Given the description of an element on the screen output the (x, y) to click on. 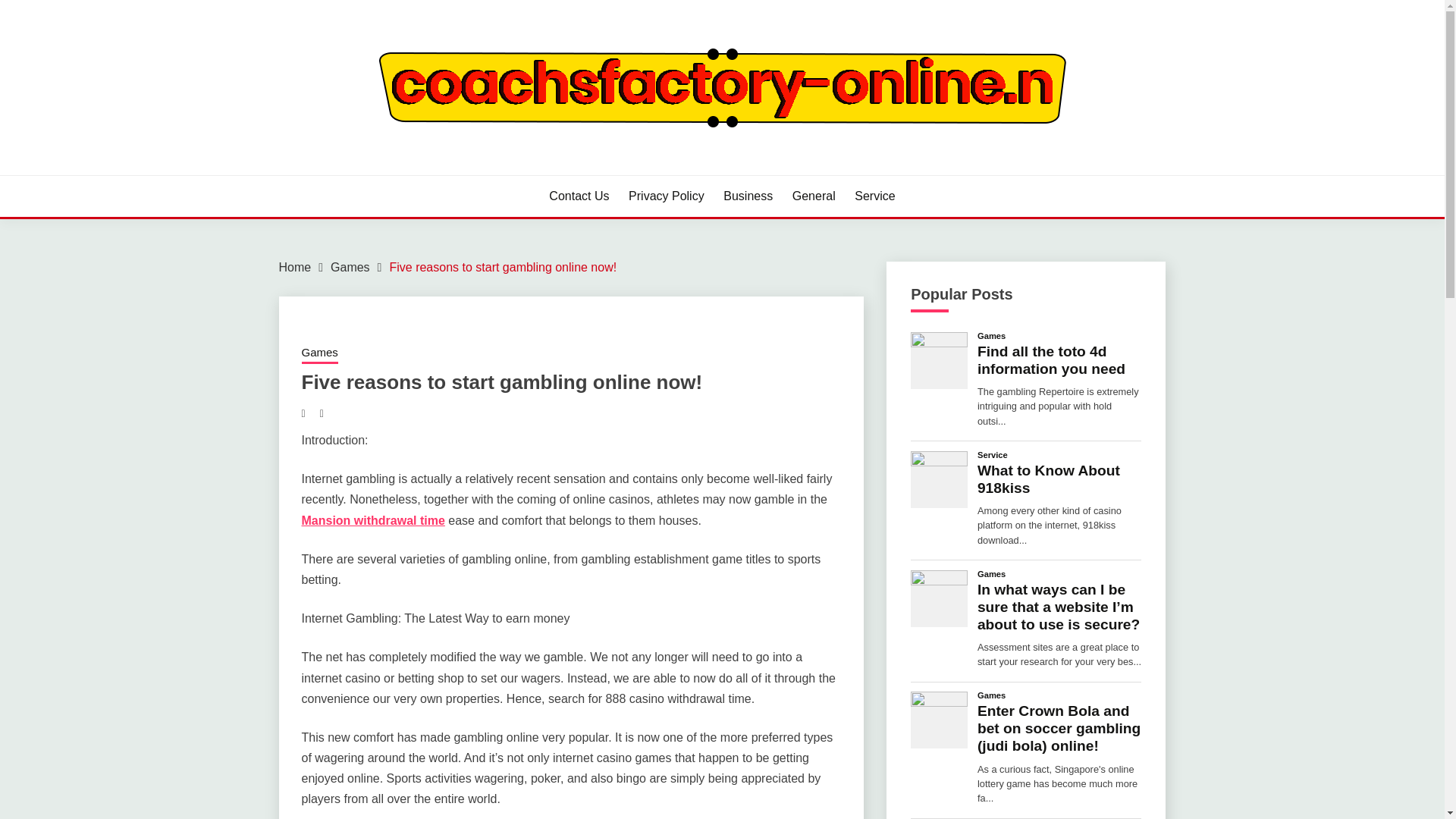
Games (991, 695)
Games (319, 353)
Games (991, 334)
General (813, 196)
Business (748, 196)
COACHSFACTORY-ONLINE (462, 173)
Service (991, 454)
Games (349, 267)
Service (874, 196)
Find all the toto 4d information you need (1058, 360)
